Given the description of an element on the screen output the (x, y) to click on. 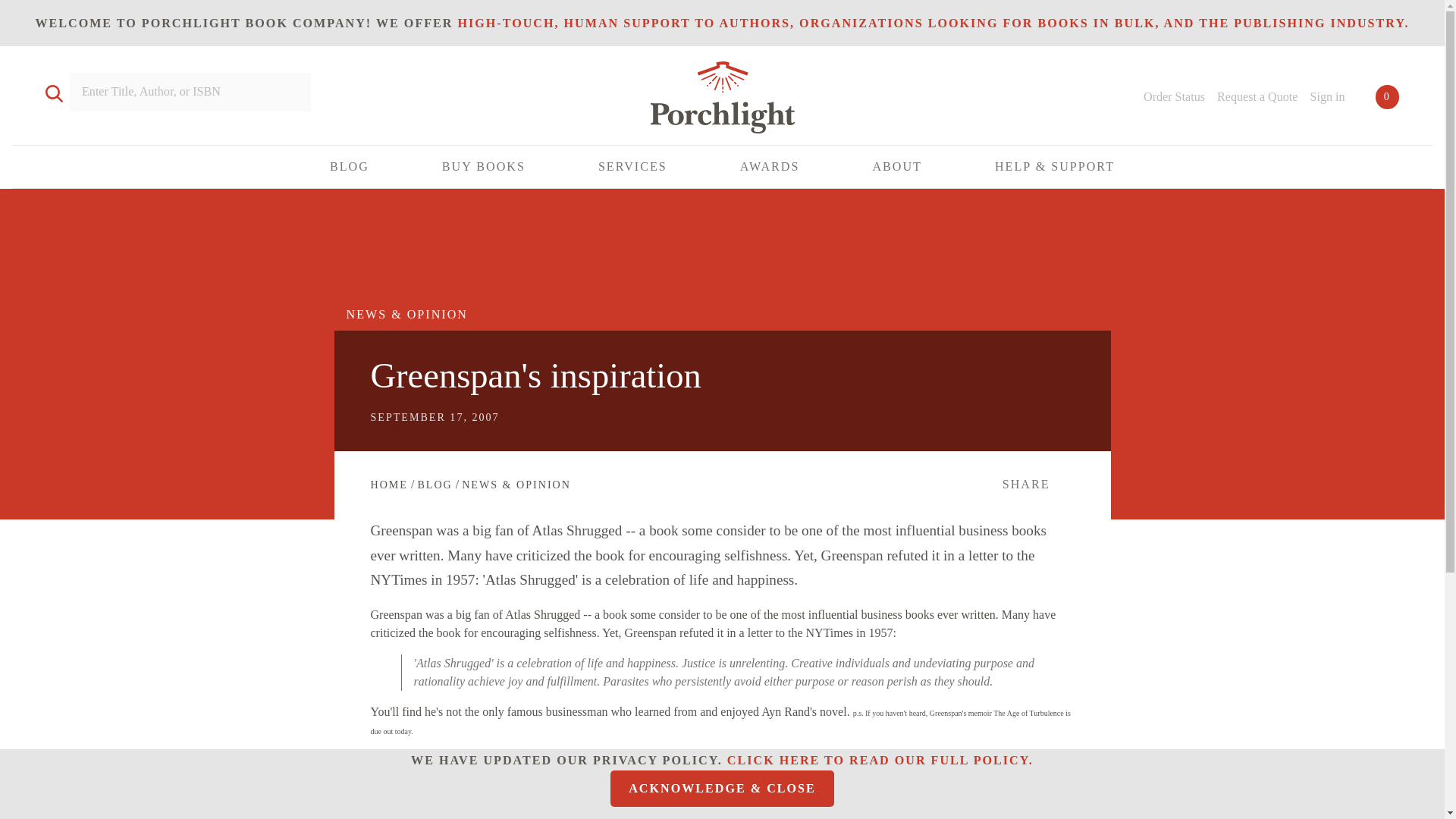
Porchlight (721, 99)
SERVICES (632, 166)
BLOG (350, 166)
Blog (433, 484)
BUY BOOKS (484, 166)
